Given the description of an element on the screen output the (x, y) to click on. 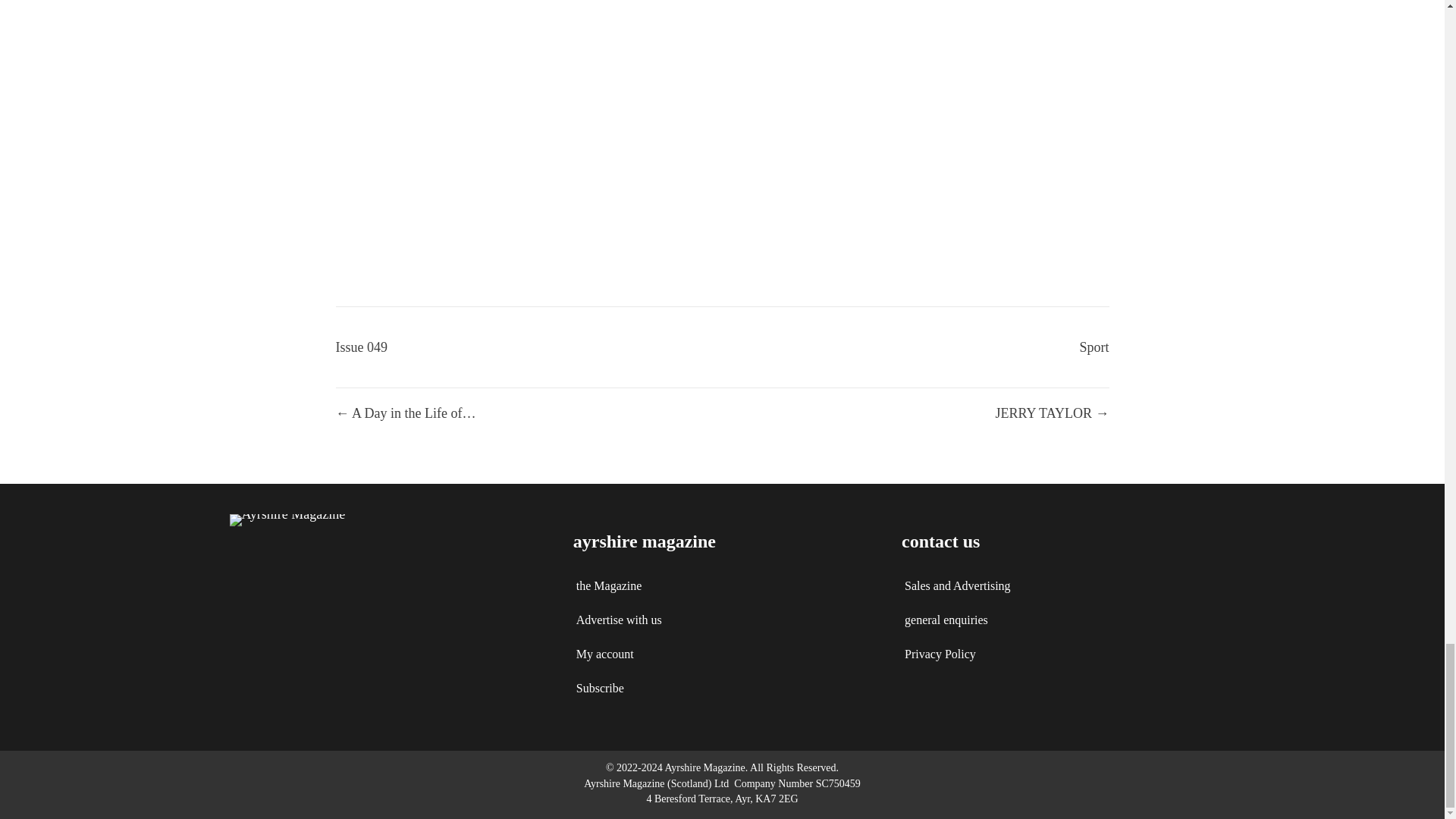
Ayrshire Magazine (286, 520)
